Given the description of an element on the screen output the (x, y) to click on. 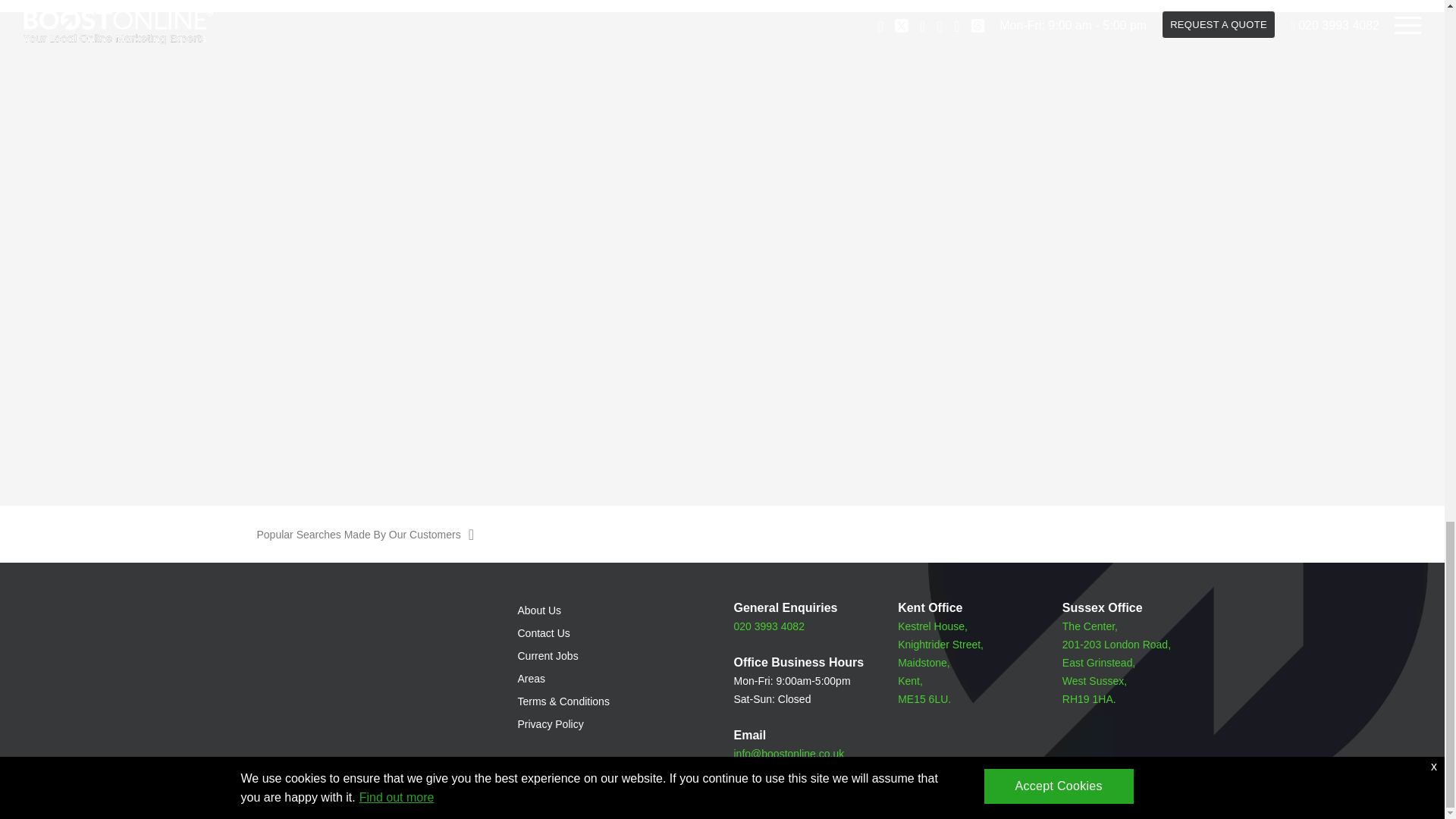
Popular Searches Made By Our Customers (722, 534)
